Given the description of an element on the screen output the (x, y) to click on. 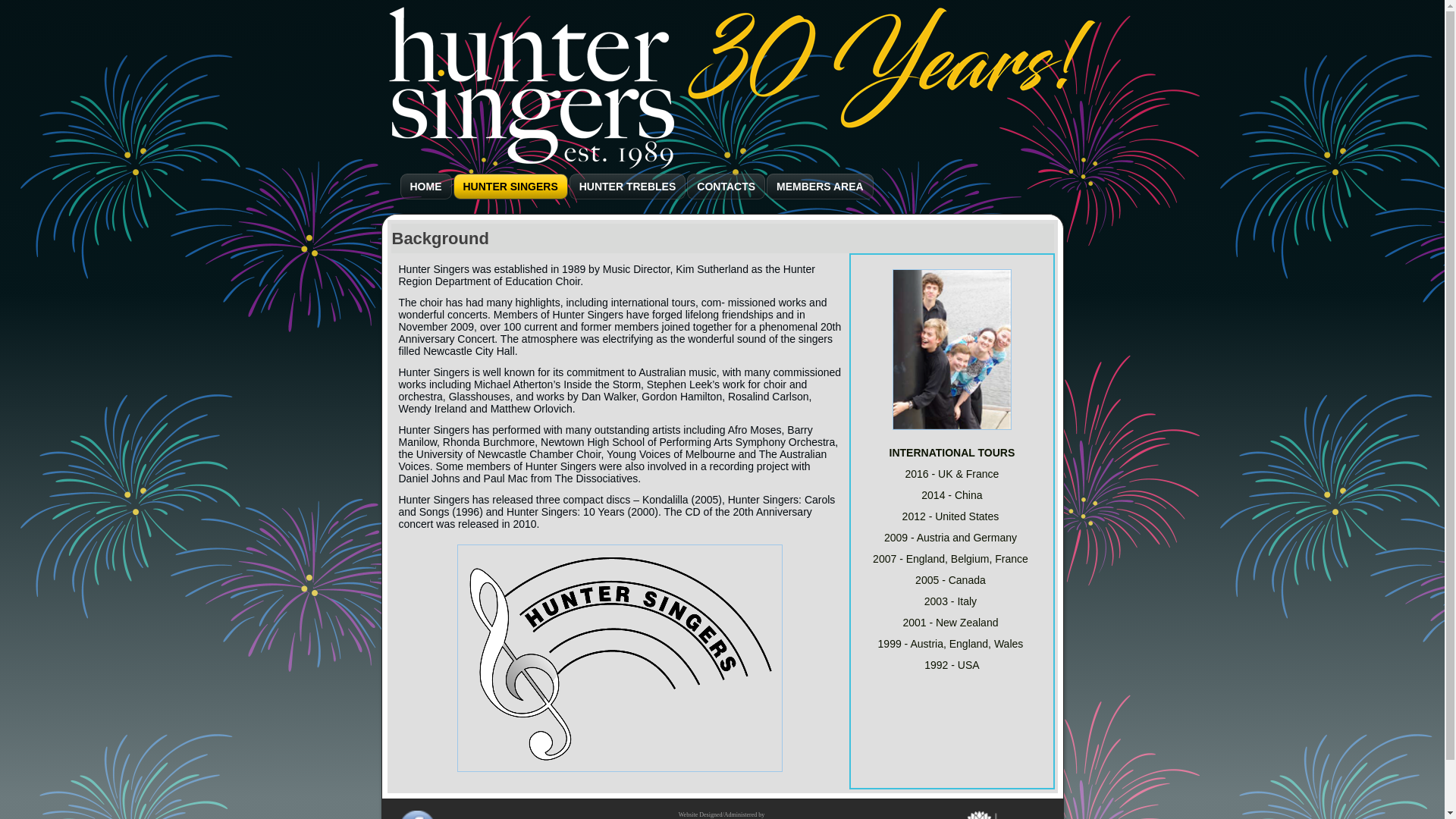
MEMBERS AREA Element type: text (819, 186)
HUNTER SINGERS Element type: text (510, 186)
HOME Element type: text (425, 186)
CONTACTS Element type: text (726, 186)
HUNTER TREBLES Element type: text (627, 186)
